Given the description of an element on the screen output the (x, y) to click on. 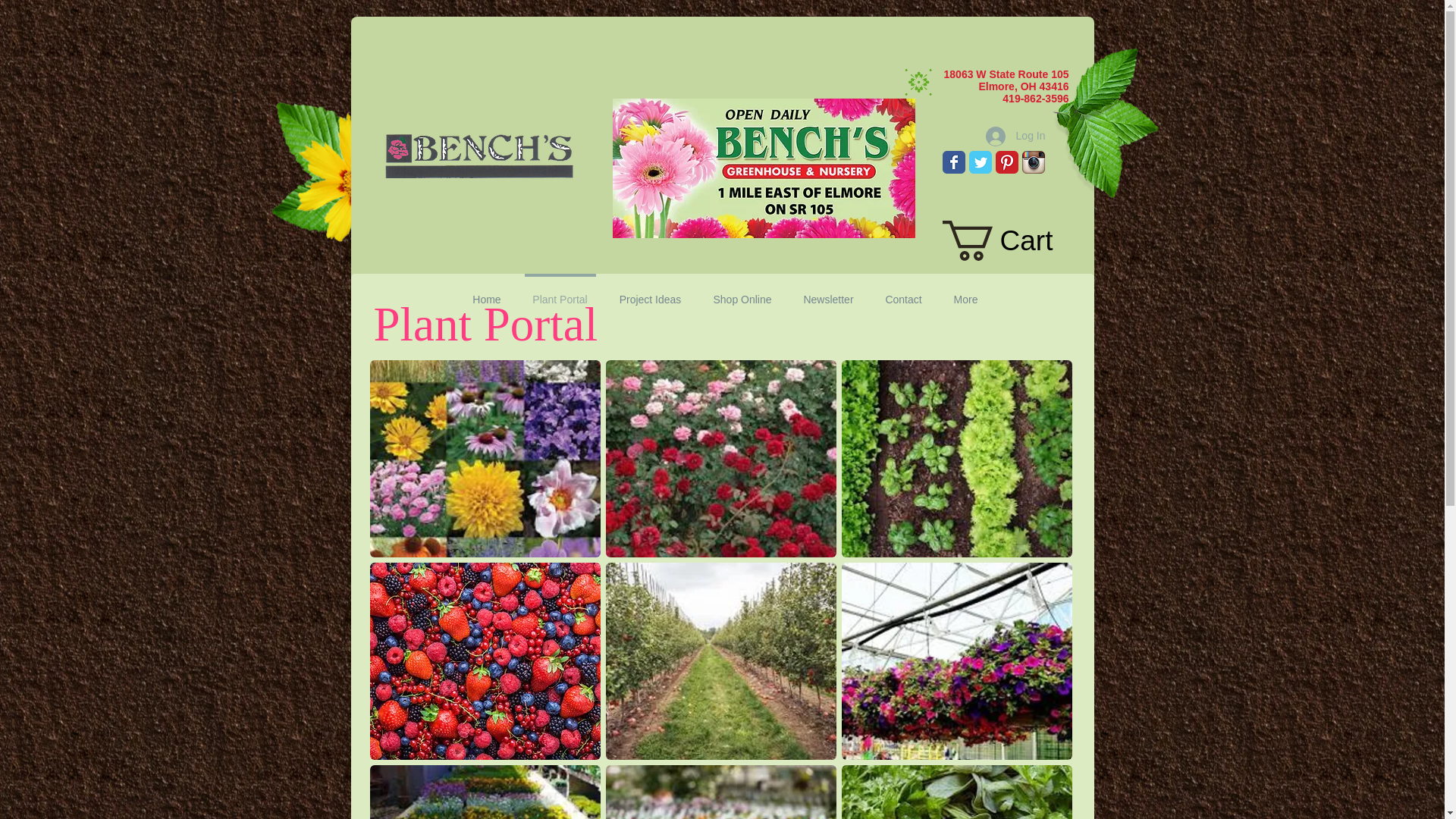
Home (409, 281)
Project Ideas (590, 281)
Contact (865, 281)
Contact (903, 292)
Plant Portal (492, 281)
Directions (1031, 281)
Cart (1017, 240)
Home (486, 292)
About Us (946, 281)
benchs billboard 5 x 2 in between lg and (763, 168)
